Given the description of an element on the screen output the (x, y) to click on. 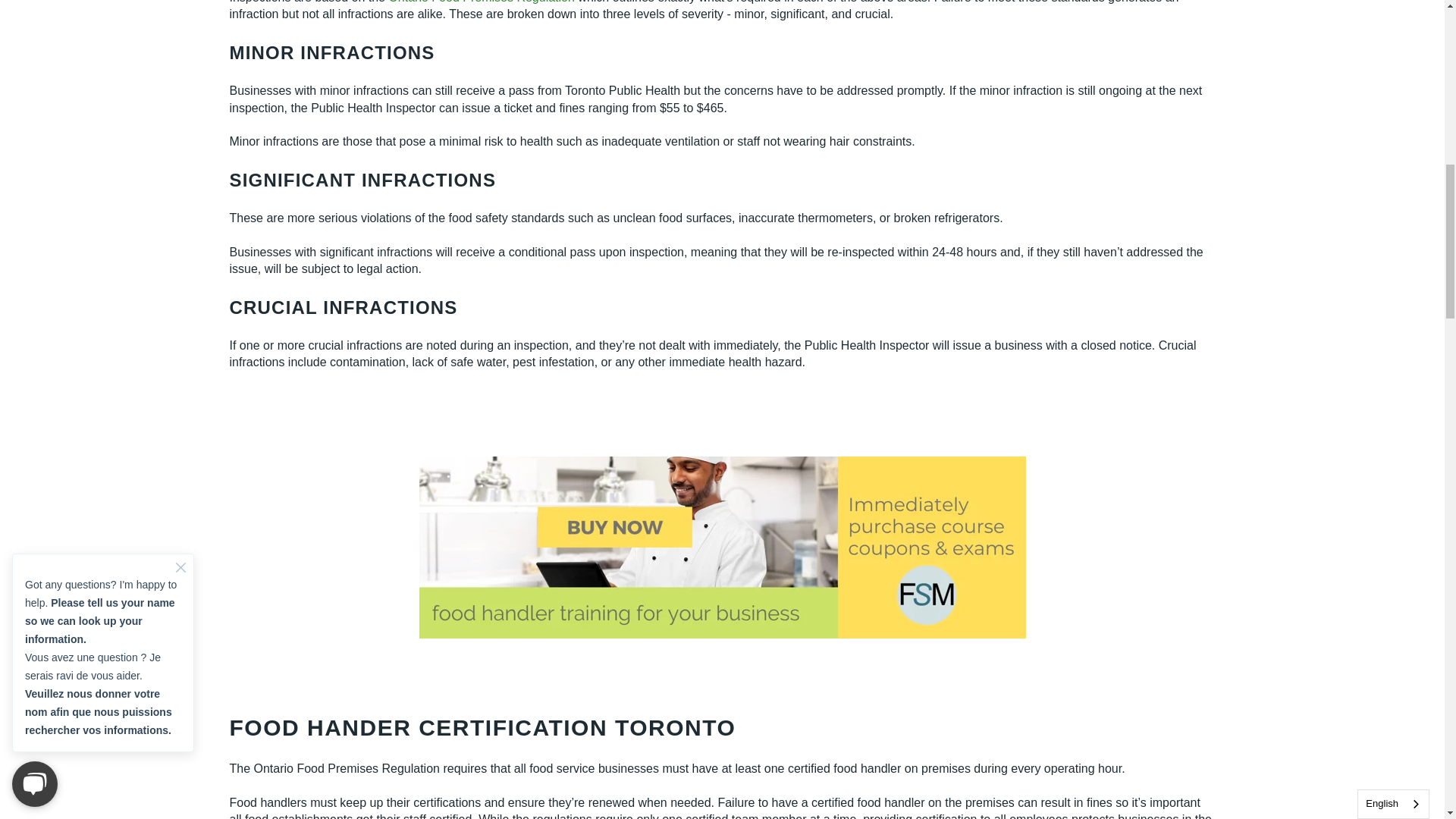
Ontario Food Premises Regulation (480, 2)
Food handler training (722, 547)
